Given the description of an element on the screen output the (x, y) to click on. 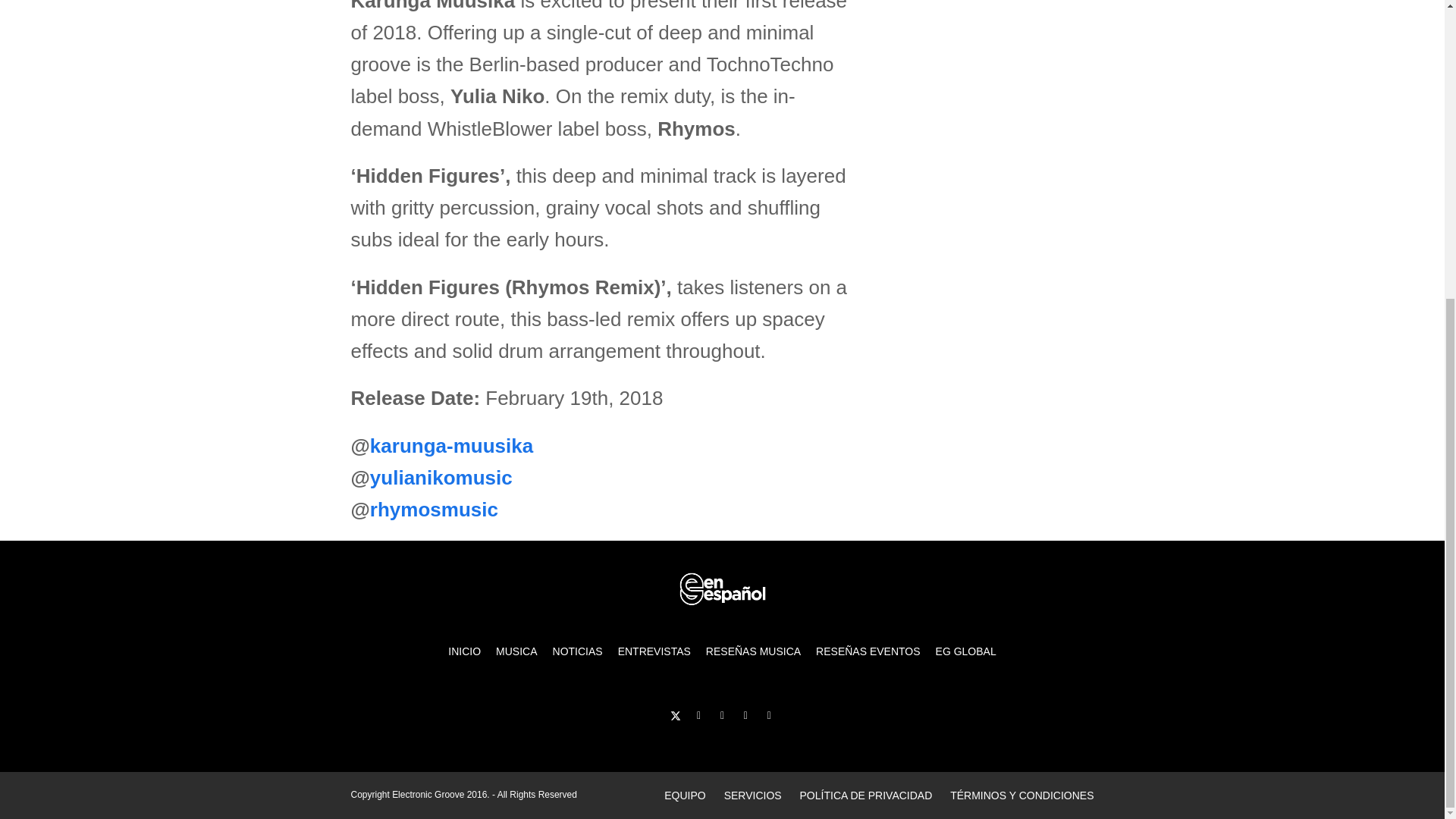
NOTICIAS (577, 651)
ENTREVISTAS (654, 651)
INICIO (464, 651)
Twitter (675, 715)
SERVICIOS (752, 795)
karunga-muusika (450, 445)
Facebook (698, 715)
soundcloud (745, 715)
Twitter (675, 715)
EQUIPO (683, 795)
